Given the description of an element on the screen output the (x, y) to click on. 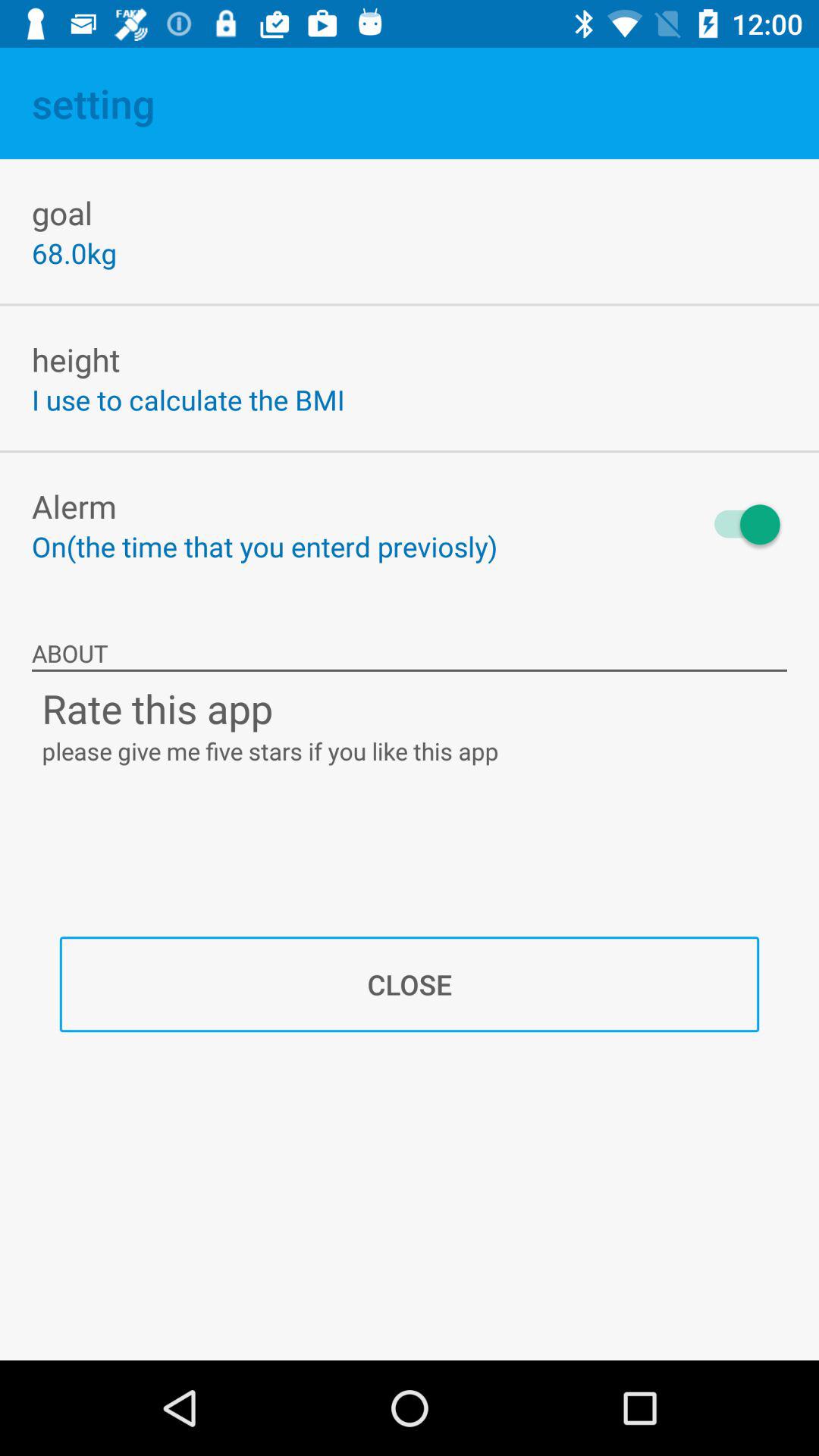
open on the time item (264, 546)
